Given the description of an element on the screen output the (x, y) to click on. 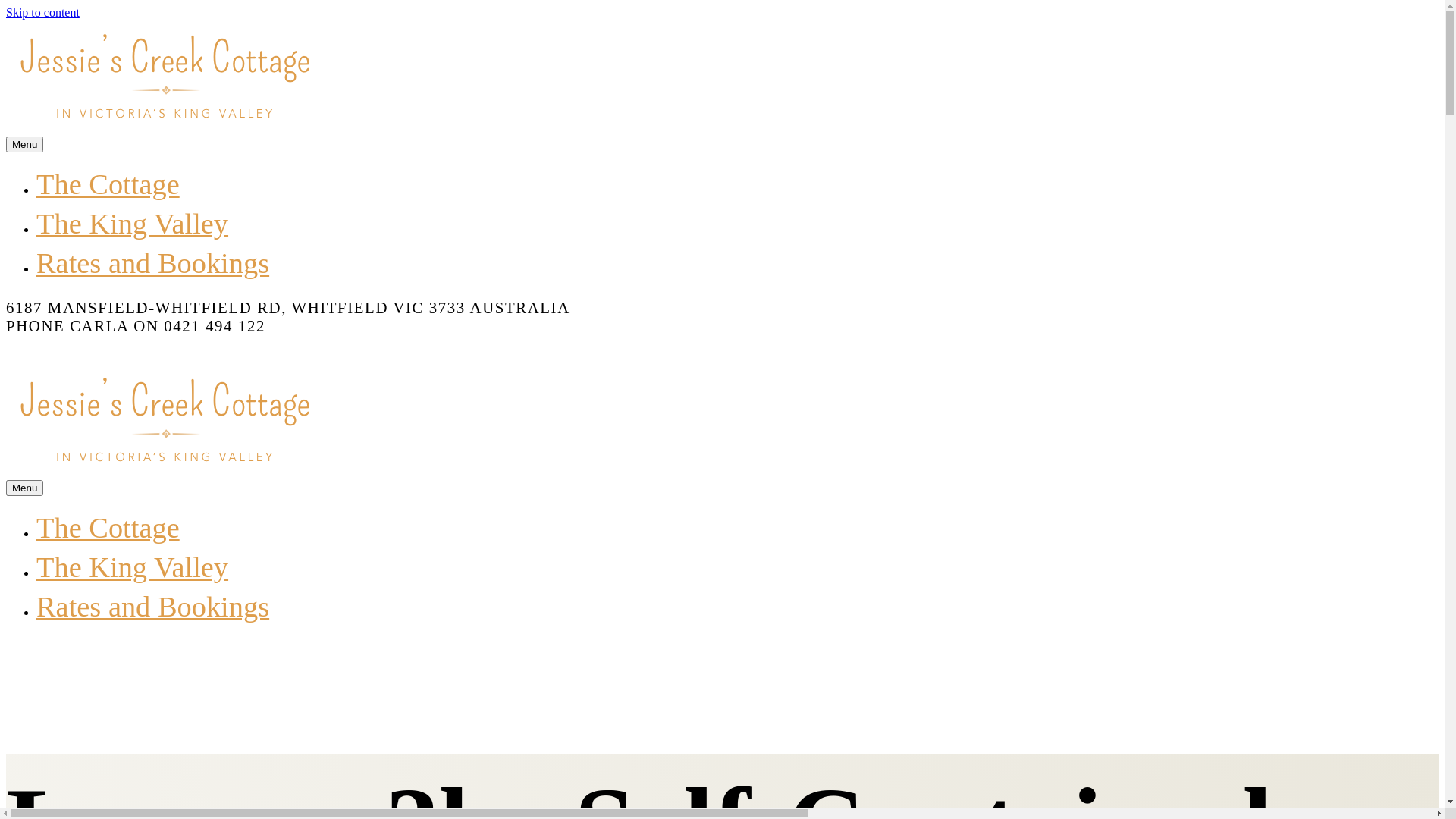
The Cottage Element type: text (107, 184)
Menu Element type: text (24, 144)
Rates and Bookings Element type: text (152, 263)
Menu Element type: text (24, 487)
Rates and Bookings Element type: text (152, 606)
The King Valley Element type: text (132, 567)
The King Valley Element type: text (132, 223)
The Cottage Element type: text (107, 527)
Skip to content Element type: text (42, 12)
